Given the description of an element on the screen output the (x, y) to click on. 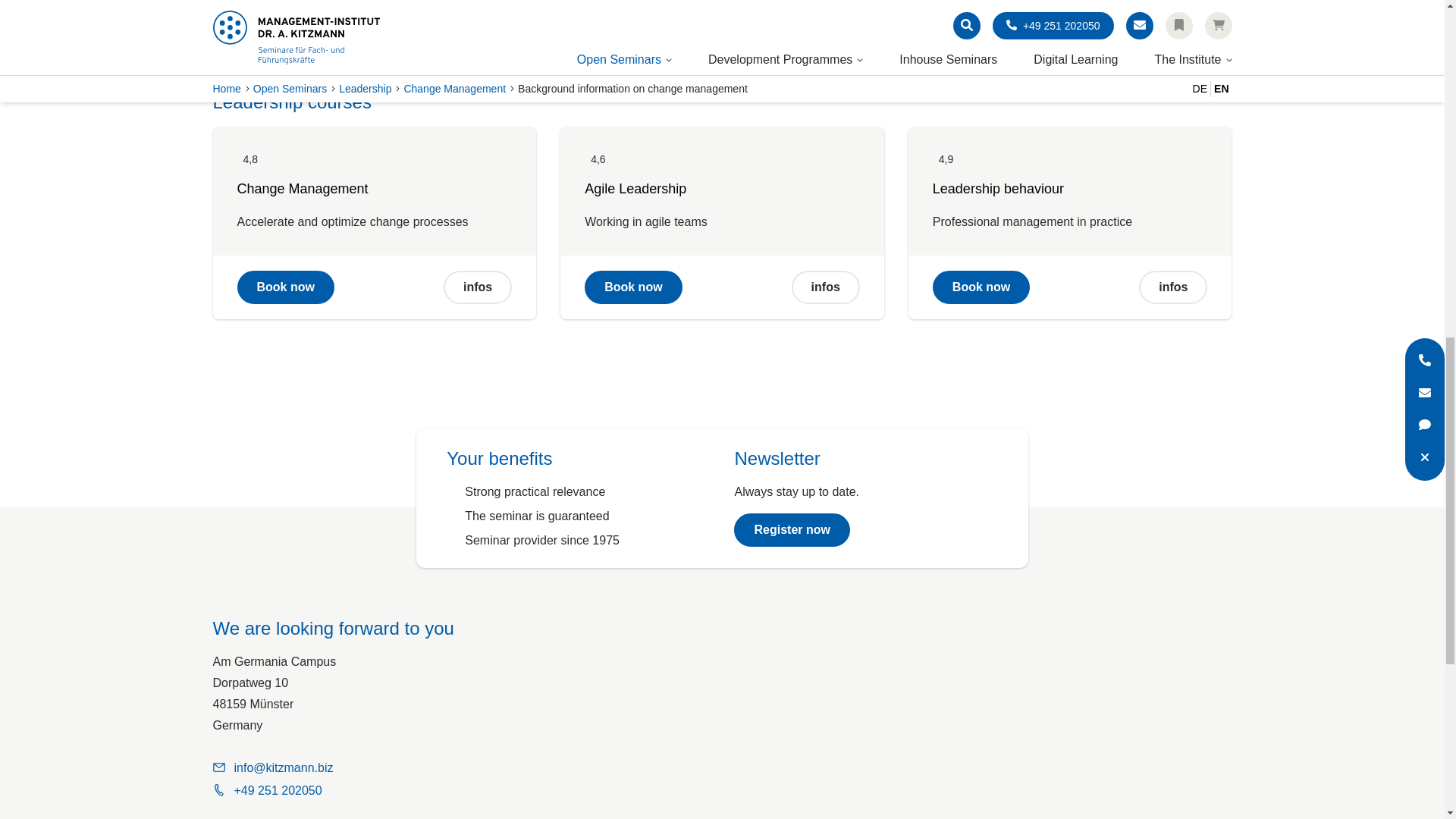
infos (826, 287)
infos (478, 287)
Book now (284, 287)
Book now (981, 287)
Book now (633, 287)
Register now (790, 530)
infos (1172, 287)
